Given the description of an element on the screen output the (x, y) to click on. 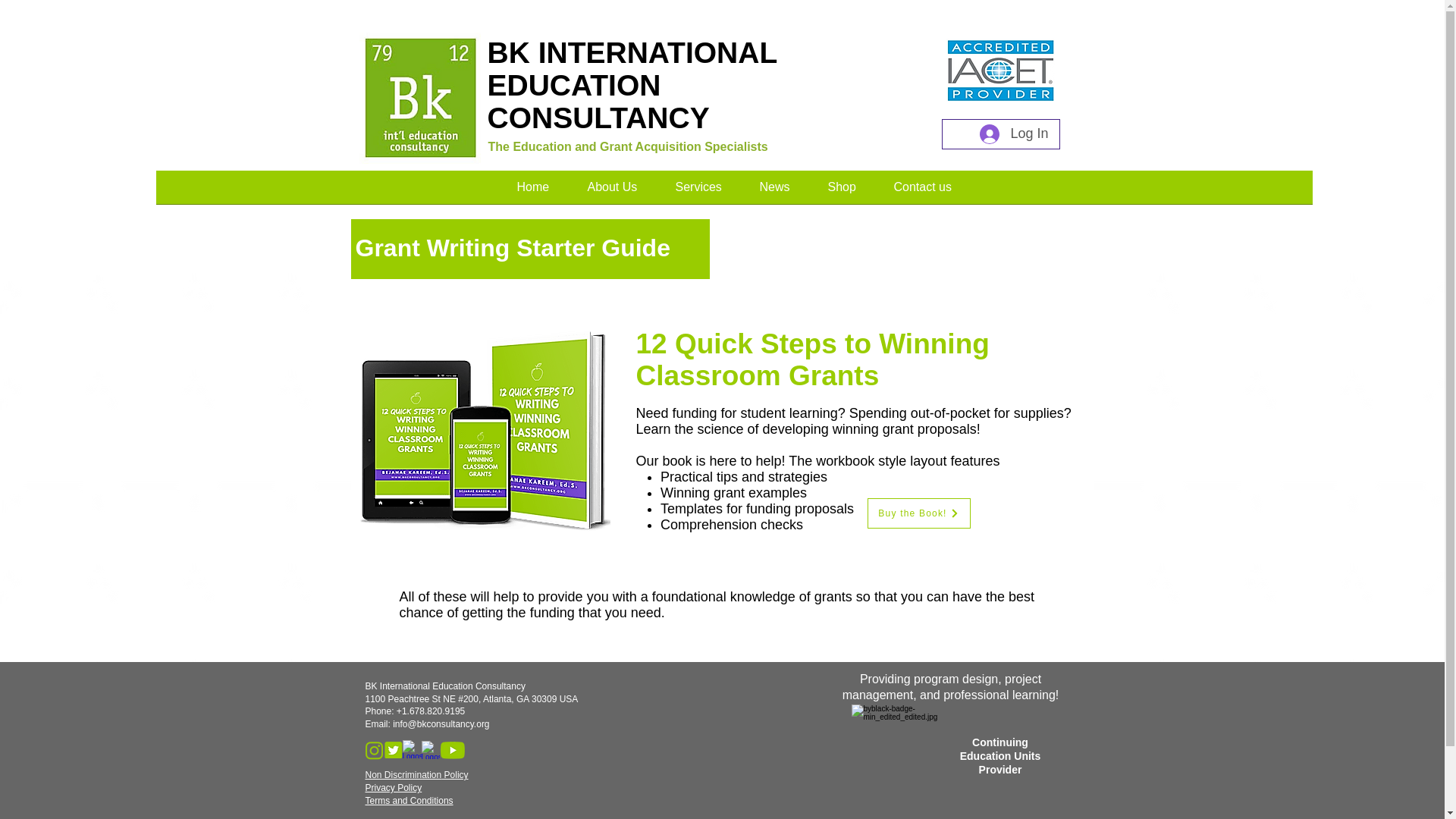
Terms and Conditions (408, 800)
Contact us (923, 191)
News (773, 191)
Log In (1013, 133)
Non Discrimination Policy (416, 774)
byblack-badge.jpg (901, 755)
About Us (612, 191)
Home (532, 191)
Privacy Policy (393, 787)
Buy the Book! (919, 512)
